Given the description of an element on the screen output the (x, y) to click on. 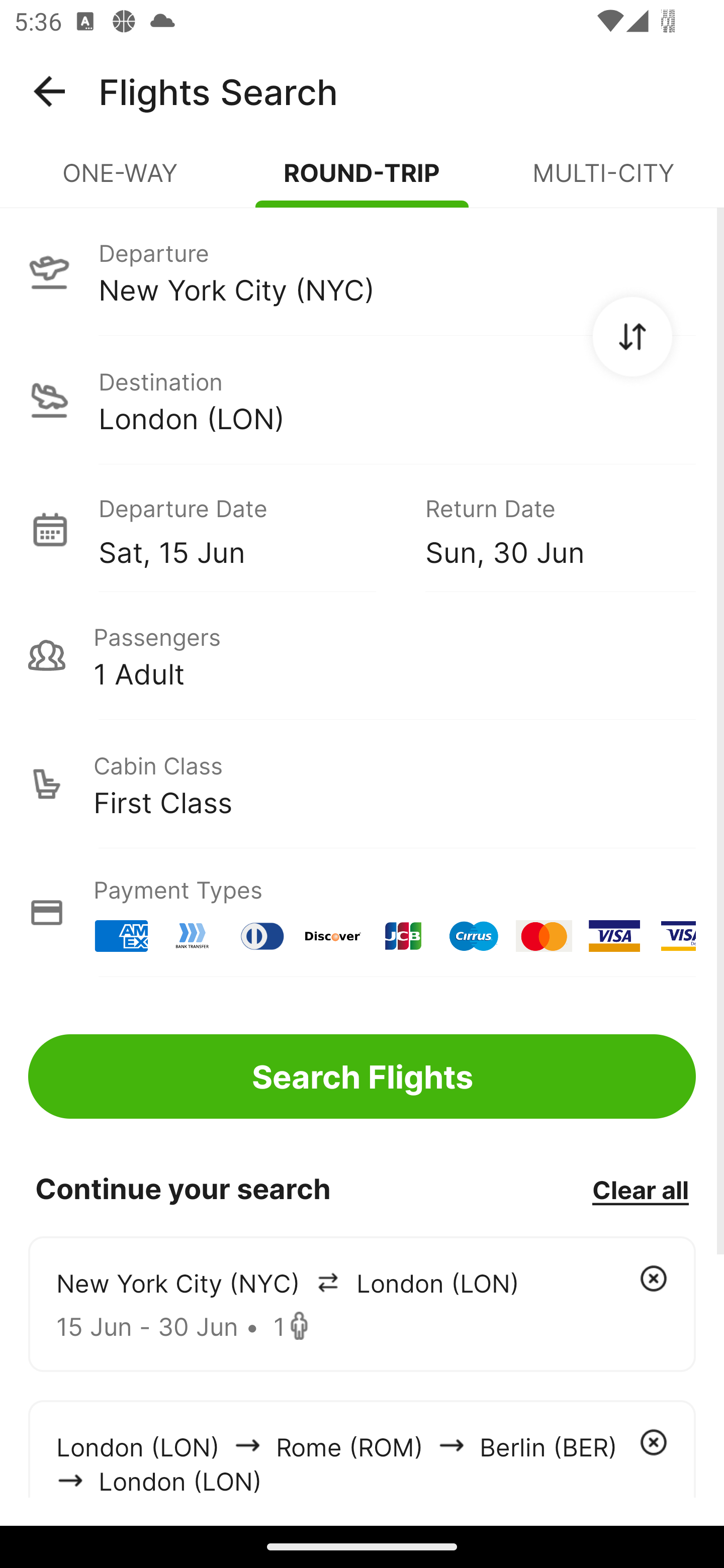
ONE-WAY (120, 180)
ROUND-TRIP (361, 180)
MULTI-CITY (603, 180)
Departure New York City (NYC) (362, 270)
Destination London (LON) (362, 400)
Departure Date Sat, 15 Jun (247, 528)
Return Date Sun, 30 Jun (546, 528)
Passengers 1 Adult (362, 655)
Cabin Class First Class (362, 783)
Payment Types (362, 912)
Search Flights (361, 1075)
Clear all (640, 1189)
